Given the description of an element on the screen output the (x, y) to click on. 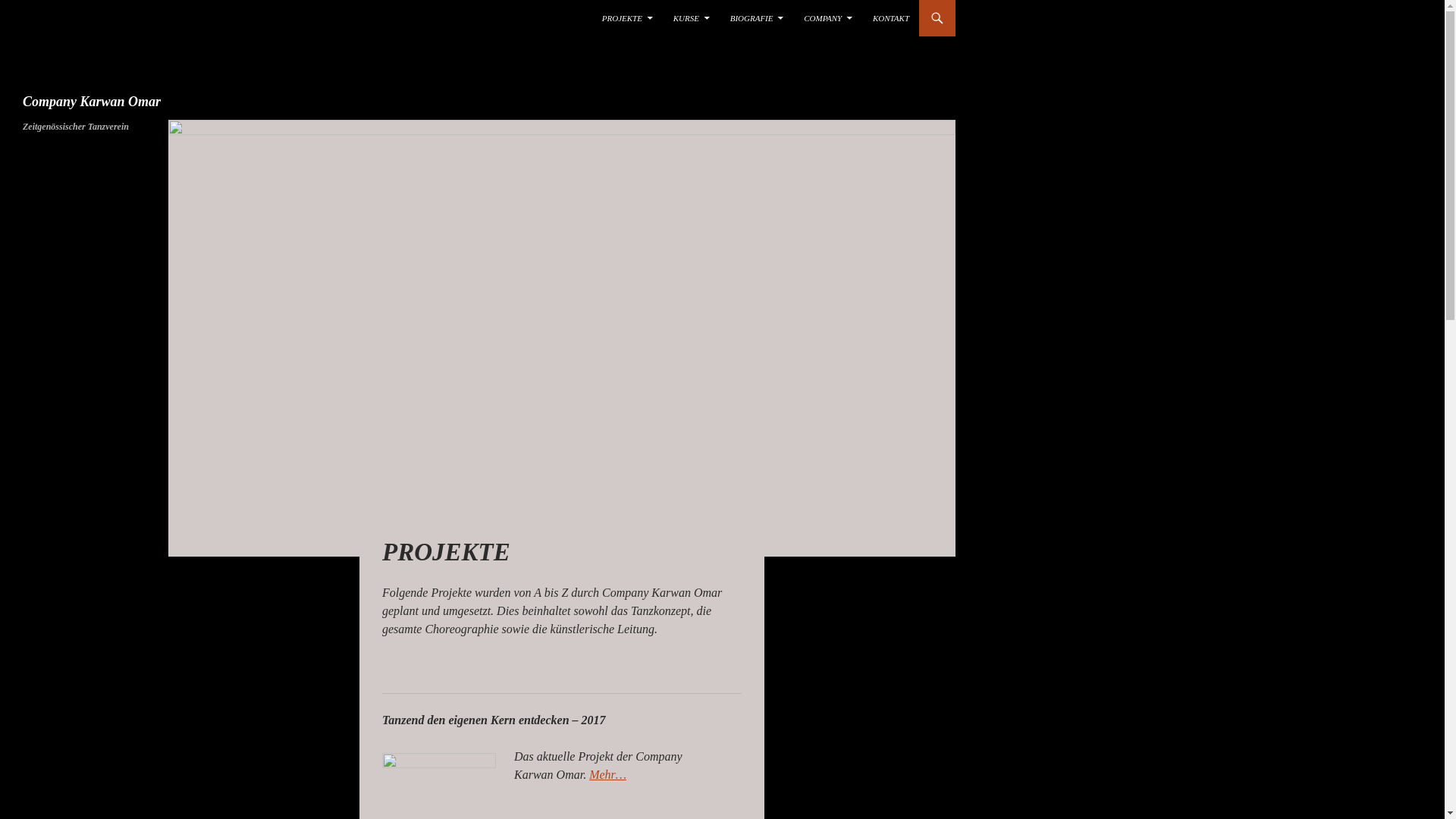
COMPANY Element type: text (827, 18)
PROJEKTE Element type: text (627, 18)
KONTAKT Element type: text (890, 18)
BIOGRAFIE Element type: text (757, 18)
Company Karwan Omar Element type: text (91, 101)
KURSE Element type: text (691, 18)
